Given the description of an element on the screen output the (x, y) to click on. 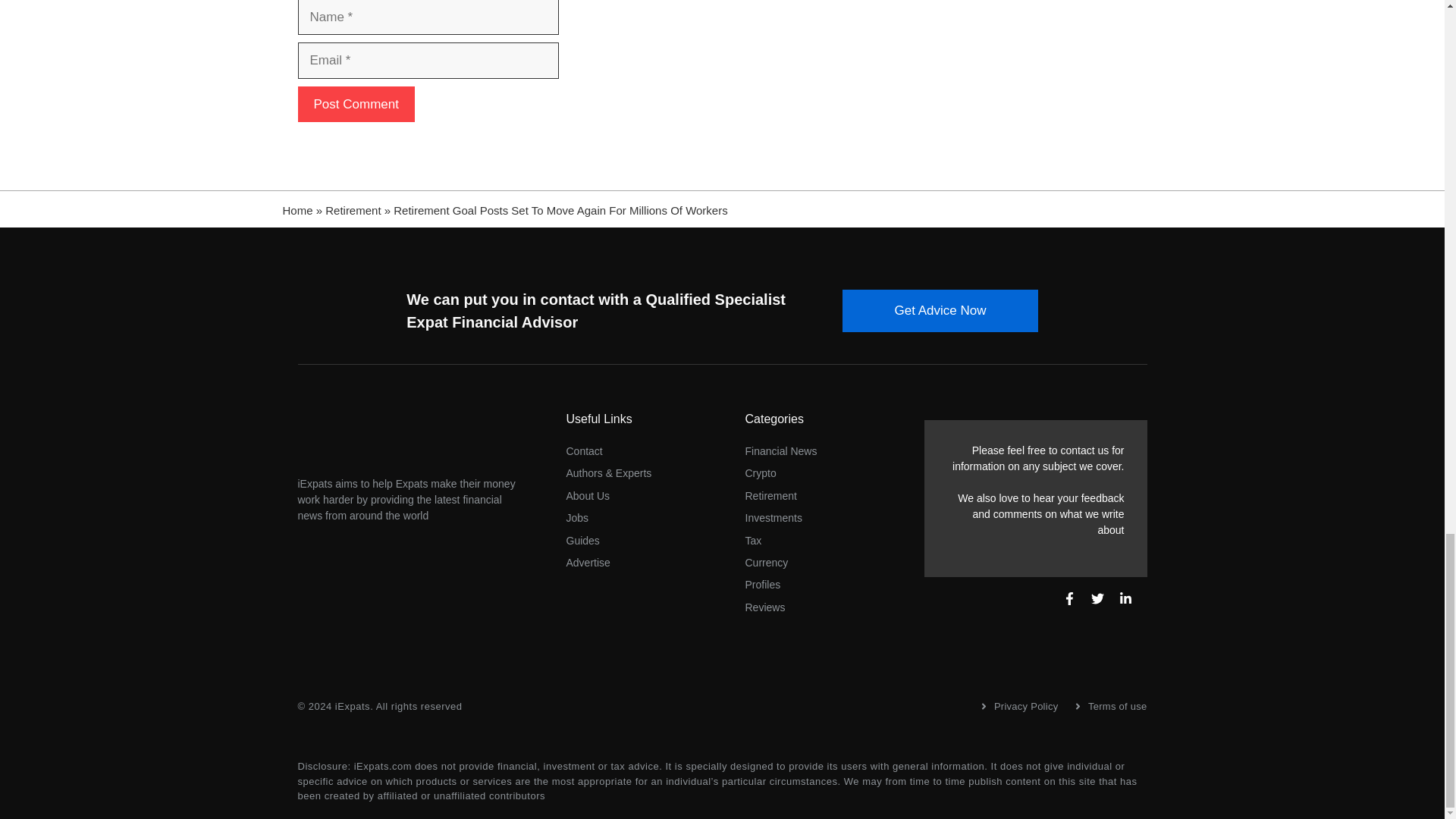
Post Comment (355, 104)
Get Advice Now (940, 310)
Post Comment (355, 104)
Home (297, 210)
Retirement (352, 210)
